Given the description of an element on the screen output the (x, y) to click on. 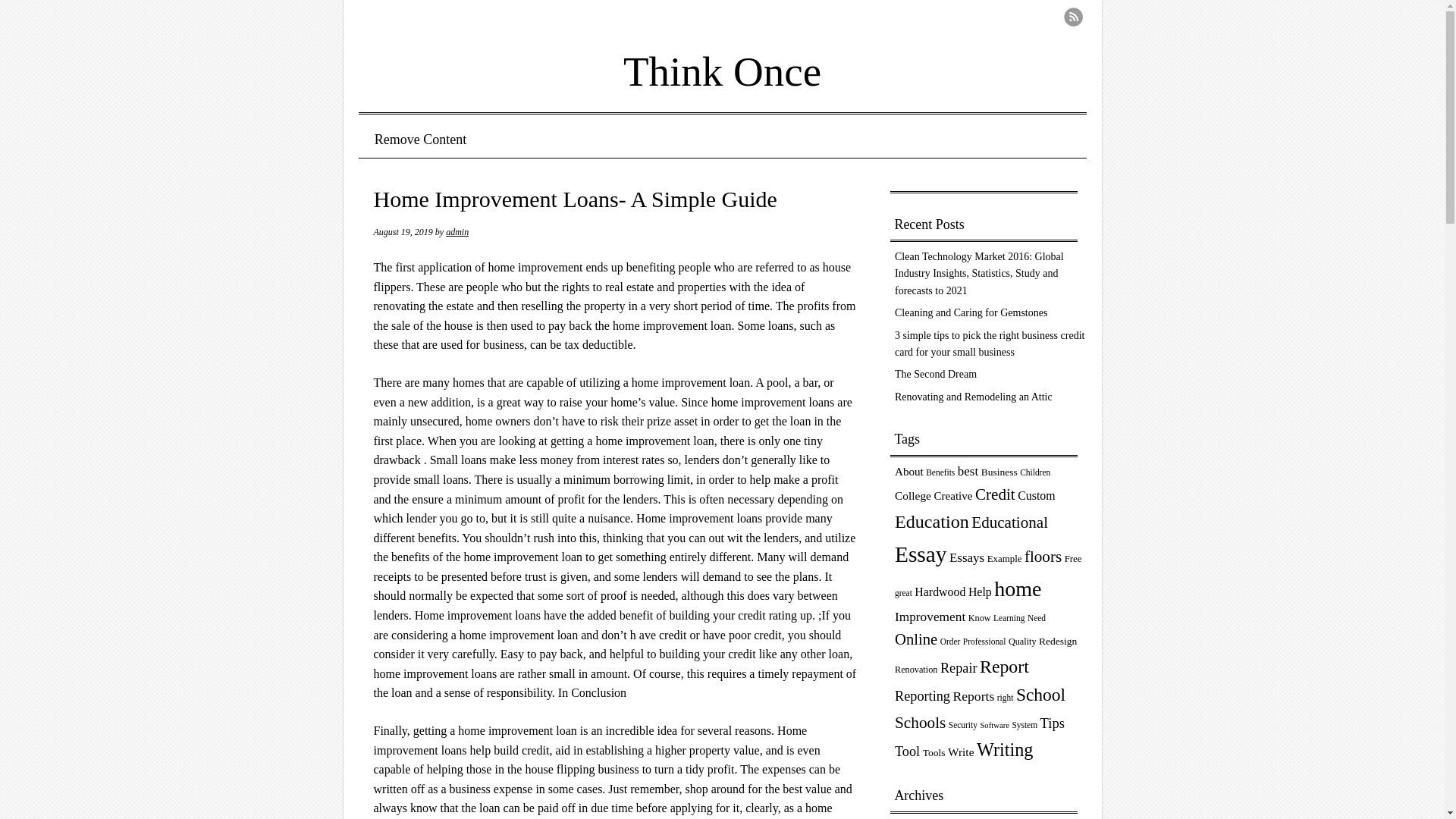
best (968, 471)
Skip to content (415, 140)
College (913, 495)
Hardwood (939, 591)
great (903, 592)
Essay (920, 554)
Creative (952, 495)
Think Once (722, 61)
Educational (1009, 522)
Skip to content (415, 140)
RSS Feed (1071, 16)
The Second Dream (935, 374)
Education (932, 521)
Renovating and Remodeling an Attic (973, 396)
